Given the description of an element on the screen output the (x, y) to click on. 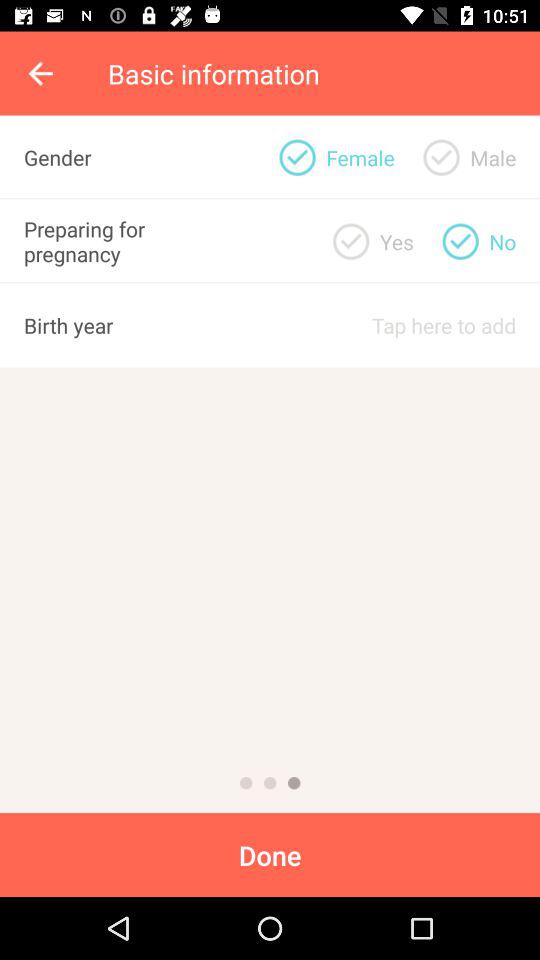
go to next photo (246, 783)
